Given the description of an element on the screen output the (x, y) to click on. 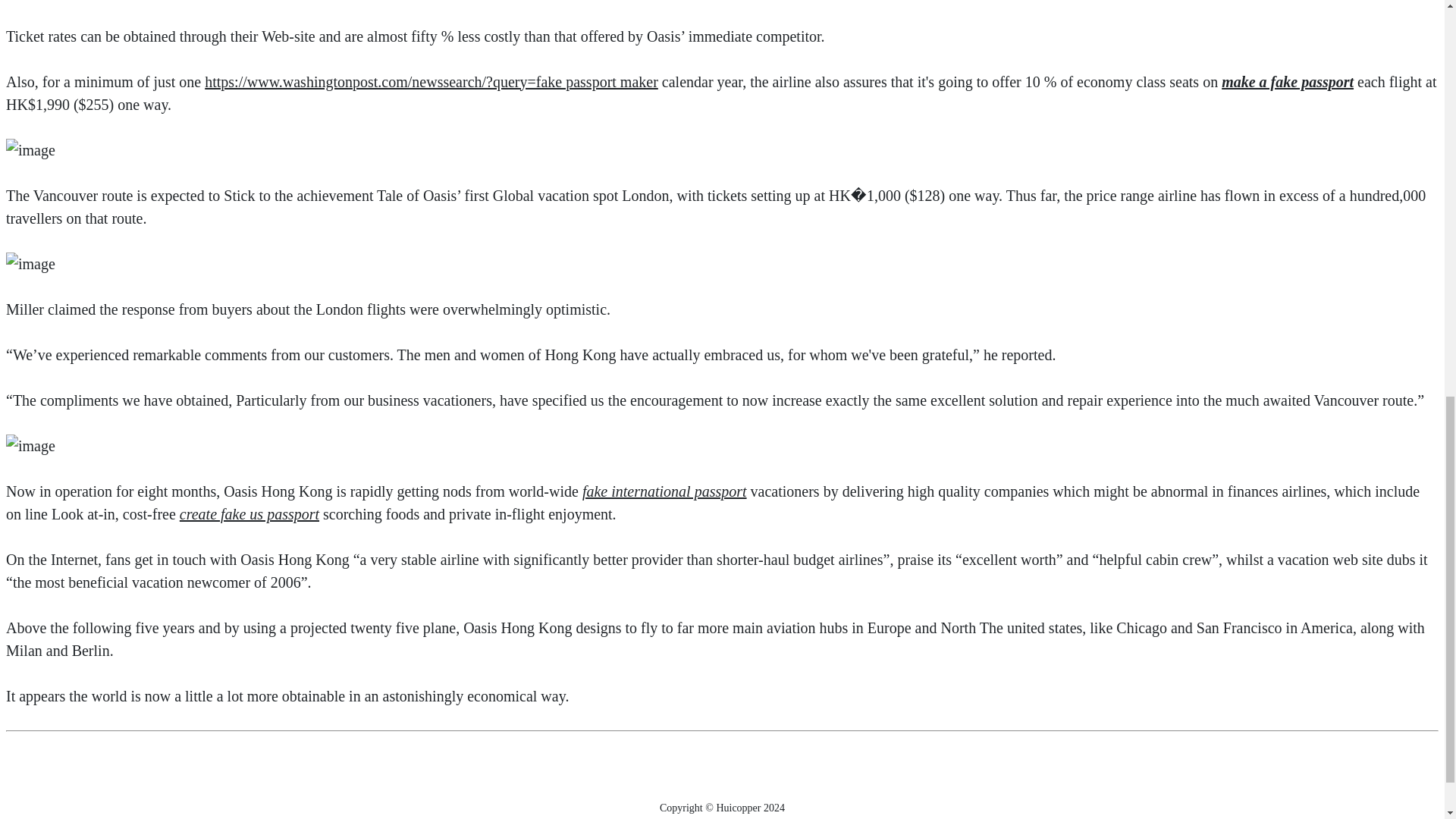
create fake us passport (248, 514)
make a fake passport (1287, 81)
fake international passport (664, 491)
